Given the description of an element on the screen output the (x, y) to click on. 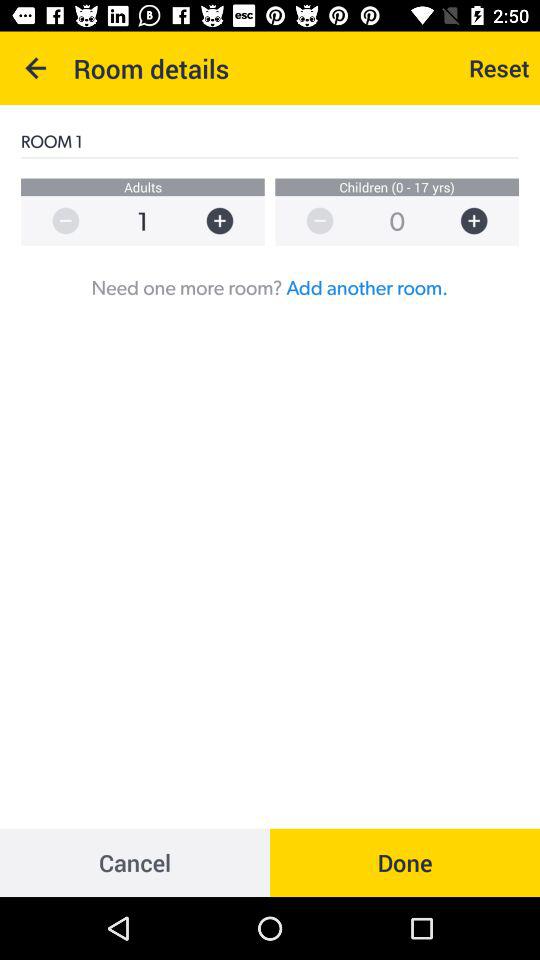
select add another room. item (367, 287)
